Given the description of an element on the screen output the (x, y) to click on. 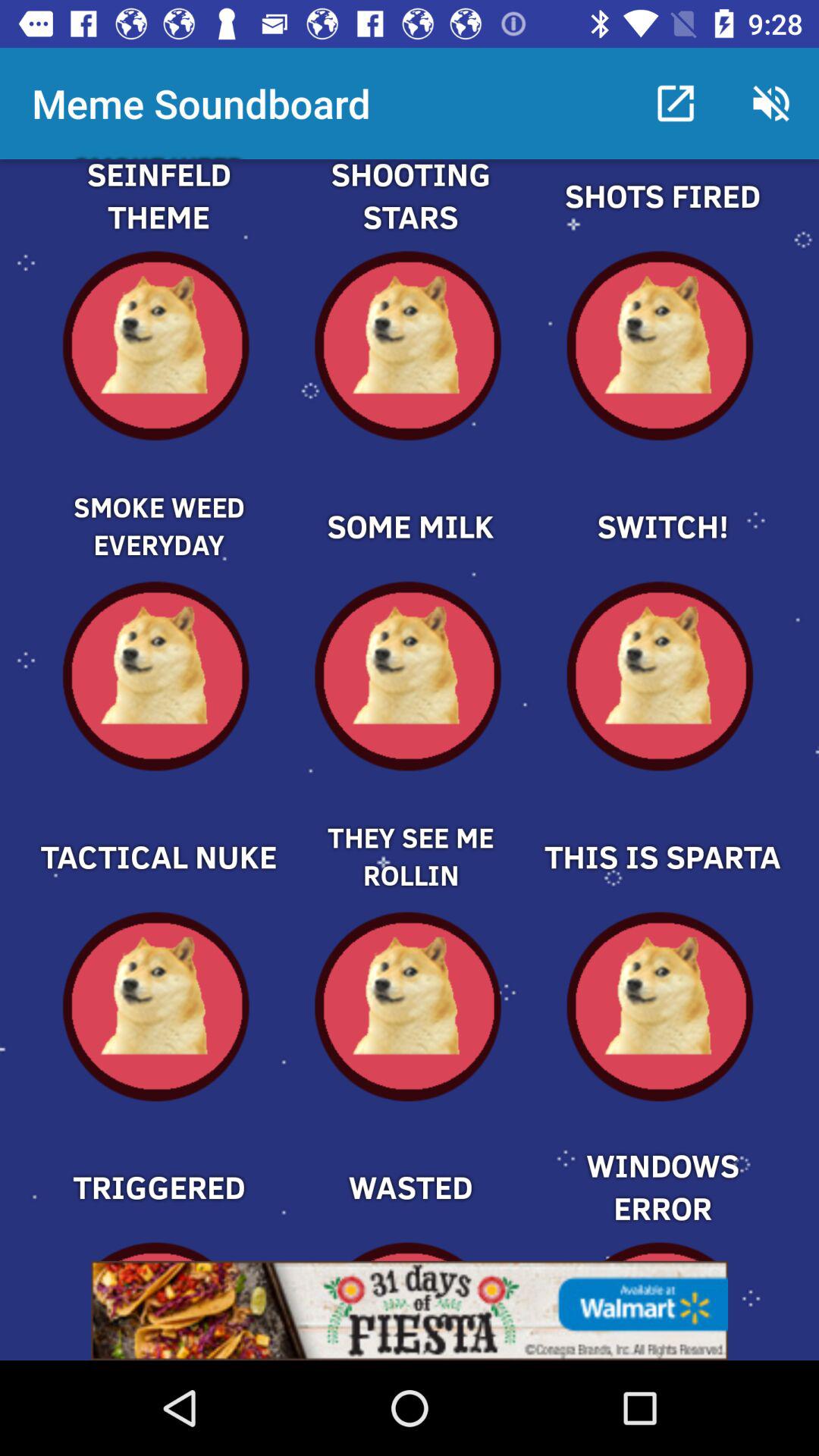
advertisement option (409, 1310)
